Given the description of an element on the screen output the (x, y) to click on. 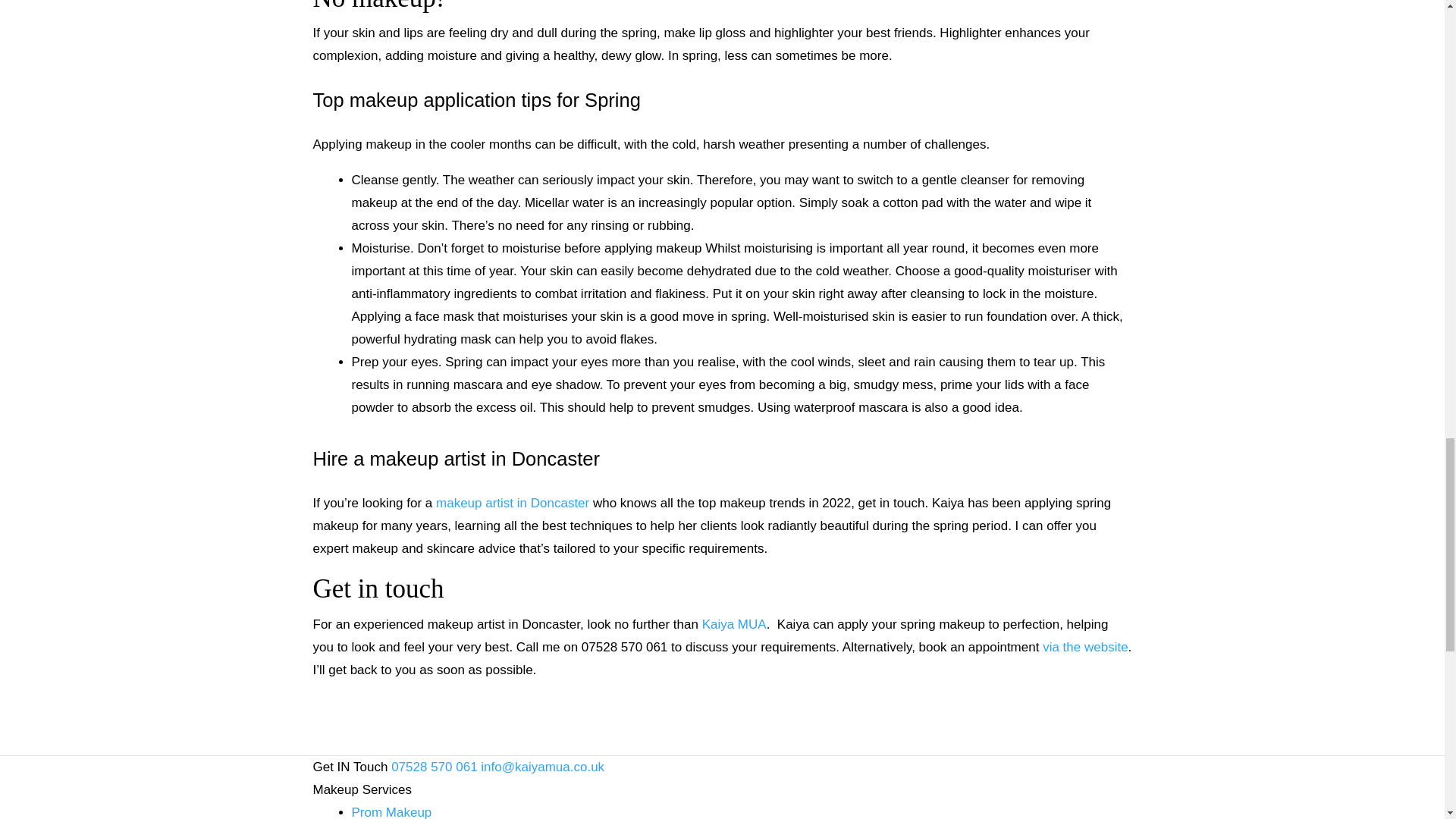
via the website (1084, 646)
07528 570 061 (434, 766)
makeup artist in Doncaster (512, 503)
Prom Makeup (392, 812)
Kaiya MUA (734, 624)
